Given the description of an element on the screen output the (x, y) to click on. 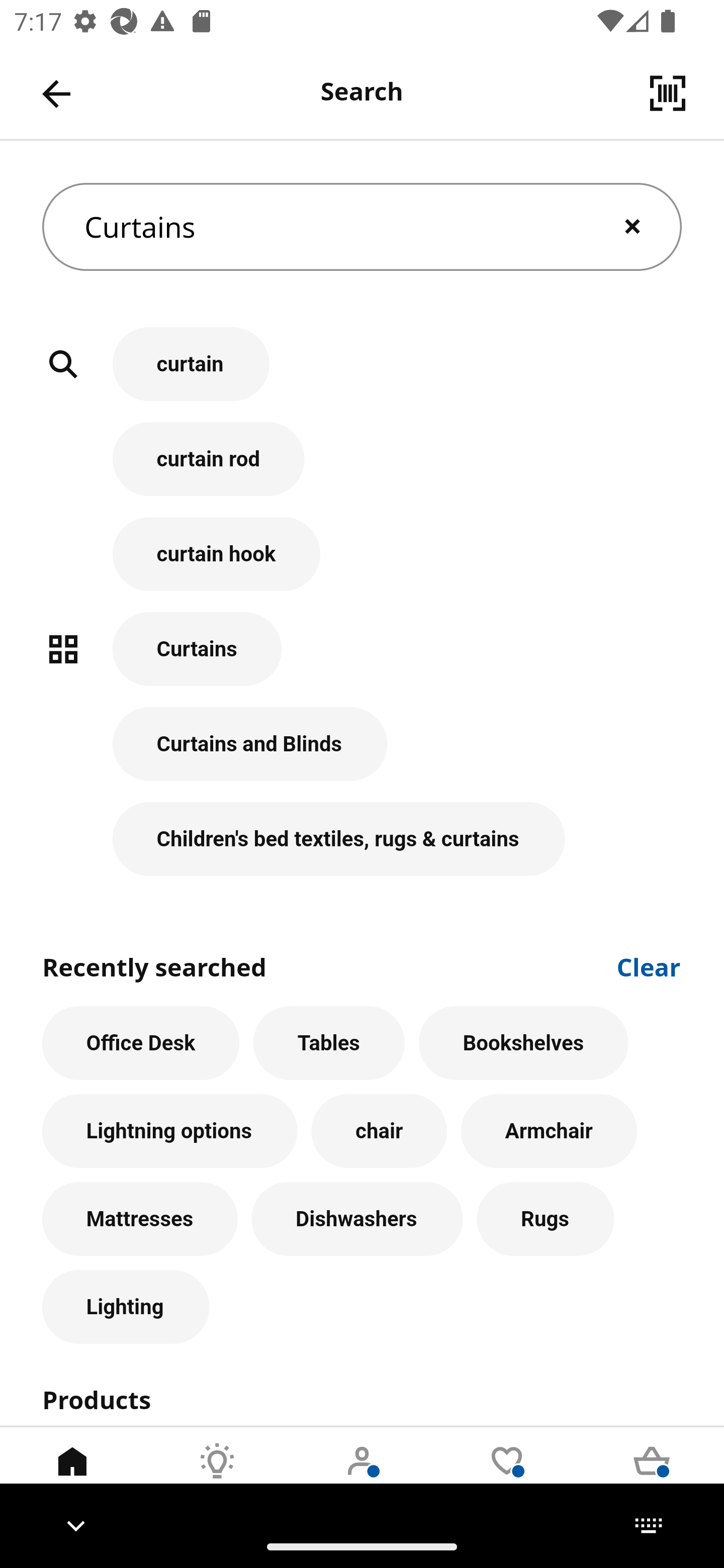
Curtains (361, 227)
curtain (361, 374)
curtain rod (361, 469)
curtain hook (361, 564)
Curtains (361, 659)
Curtains and Blinds (361, 754)
Children's bed textiles, rugs & curtains (361, 839)
Clear (649, 965)
Office Desk (140, 1043)
Tables (328, 1043)
Bookshelves (523, 1043)
Lightning options (169, 1131)
chair (379, 1131)
Armchair (549, 1131)
Mattresses (139, 1218)
Dishwashers (357, 1218)
Rugs (545, 1218)
Lighting (125, 1306)
Home
Tab 1 of 5 (72, 1476)
Inspirations
Tab 2 of 5 (216, 1476)
User
Tab 3 of 5 (361, 1476)
Wishlist
Tab 4 of 5 (506, 1476)
Cart
Tab 5 of 5 (651, 1476)
